Given the description of an element on the screen output the (x, y) to click on. 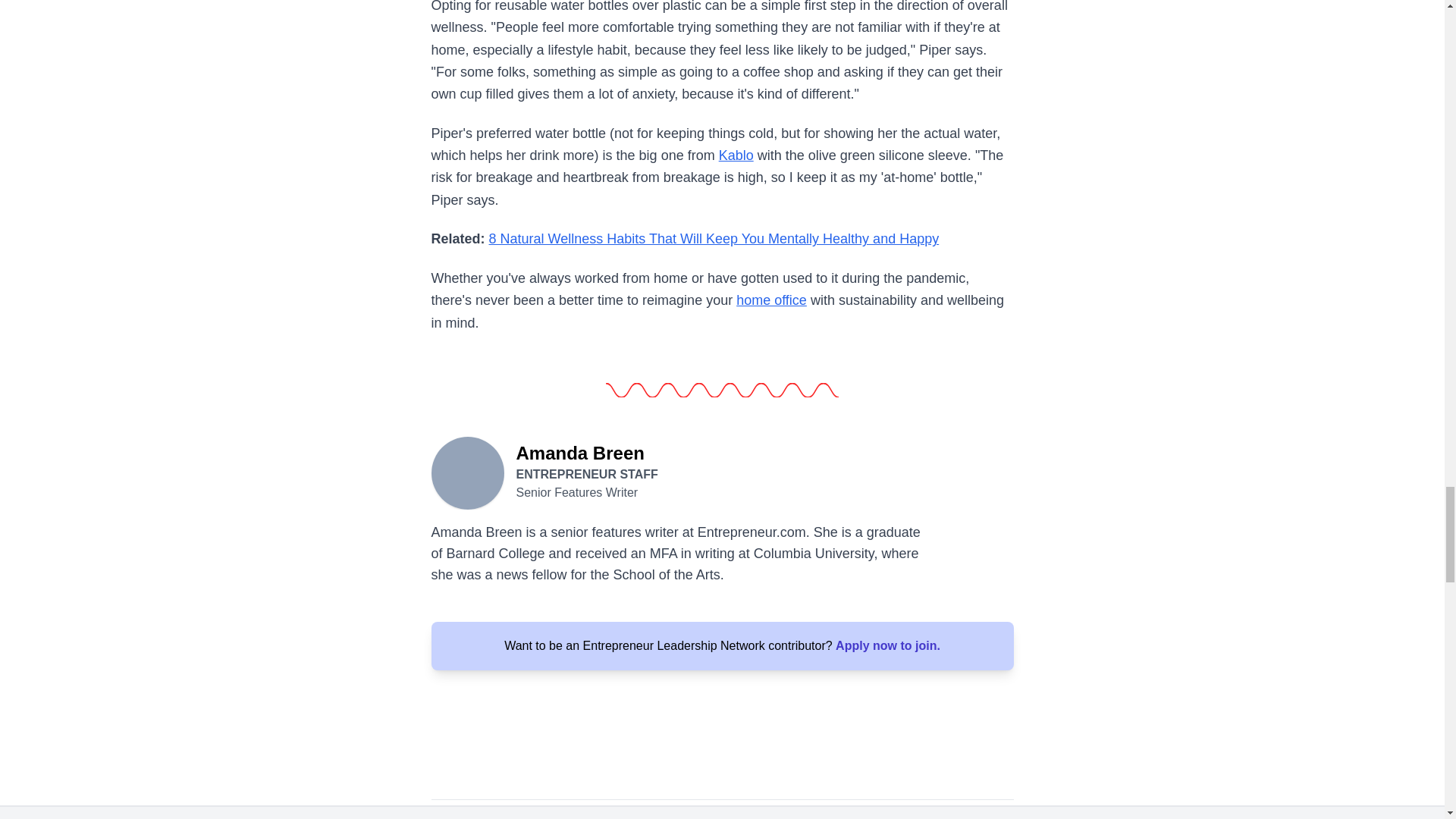
Amanda Breen (466, 471)
